Given the description of an element on the screen output the (x, y) to click on. 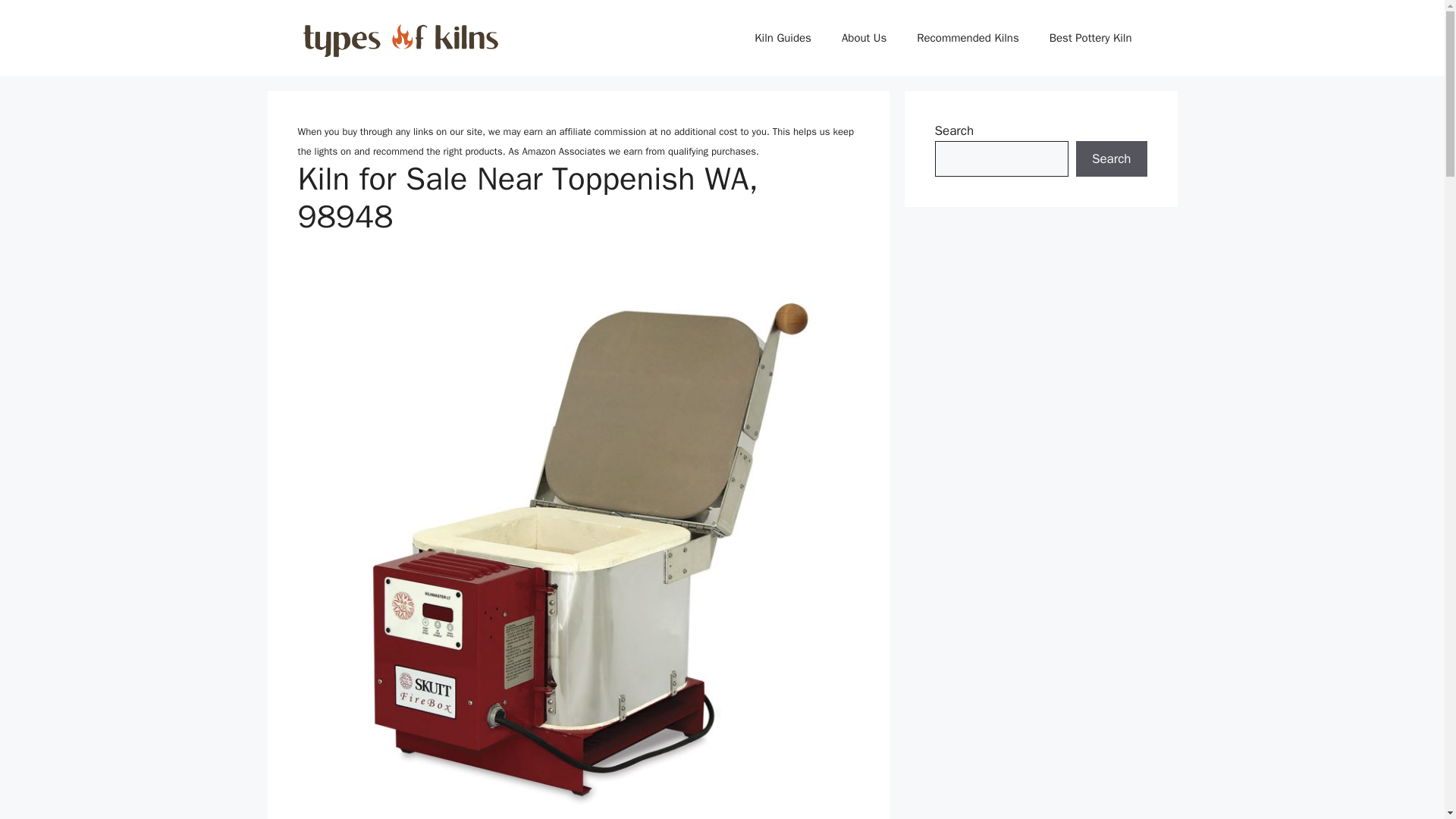
About Us (864, 37)
Recommended Kilns (967, 37)
Kiln Guides (783, 37)
Best Pottery Kiln (1090, 37)
Search (1111, 158)
